Given the description of an element on the screen output the (x, y) to click on. 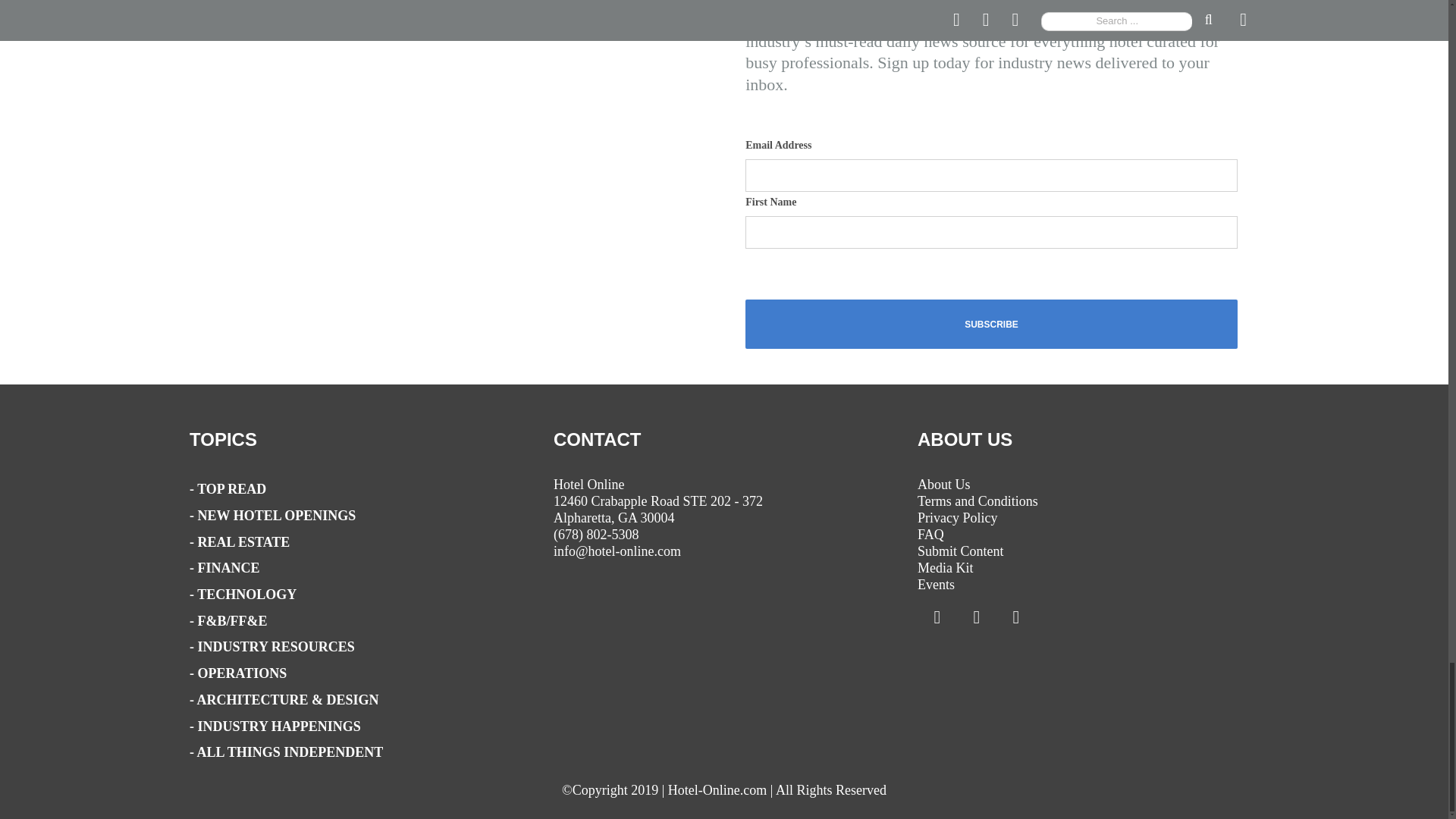
SUbscribe (991, 323)
